Given the description of an element on the screen output the (x, y) to click on. 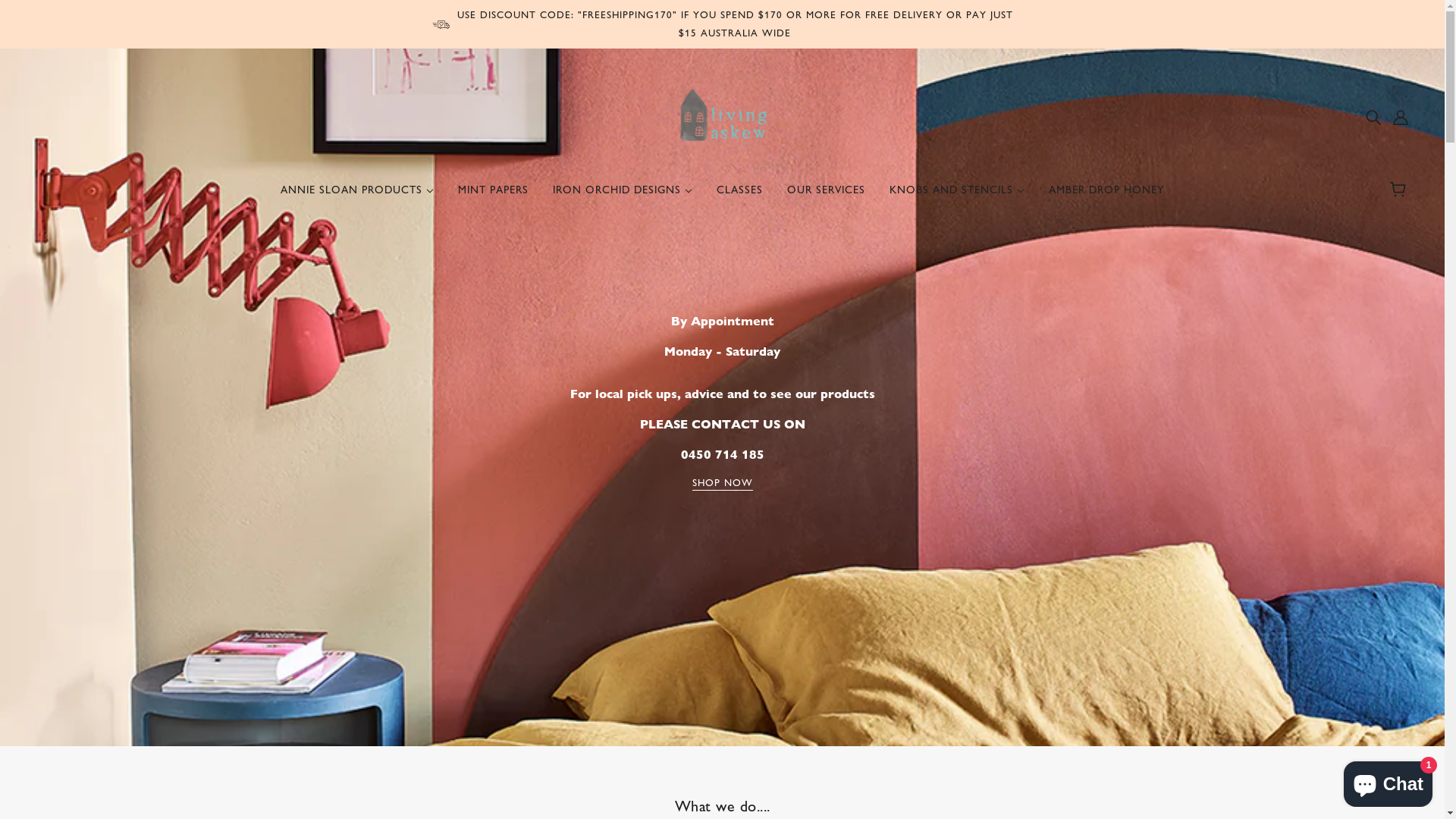
OUR SERVICES Element type: text (826, 195)
ANNIE SLOAN PRODUCTS Element type: text (356, 195)
Shopify online store chat Element type: hover (1388, 780)
Living Askew Element type: hover (721, 114)
SHOP NOW Element type: text (721, 484)
KNOBS AND STENCILS Element type: text (956, 195)
IRON ORCHID DESIGNS Element type: text (622, 195)
AMBER DROP HONEY Element type: text (1106, 195)
MINT PAPERS Element type: text (492, 195)
CLASSES Element type: text (739, 195)
